Given the description of an element on the screen output the (x, y) to click on. 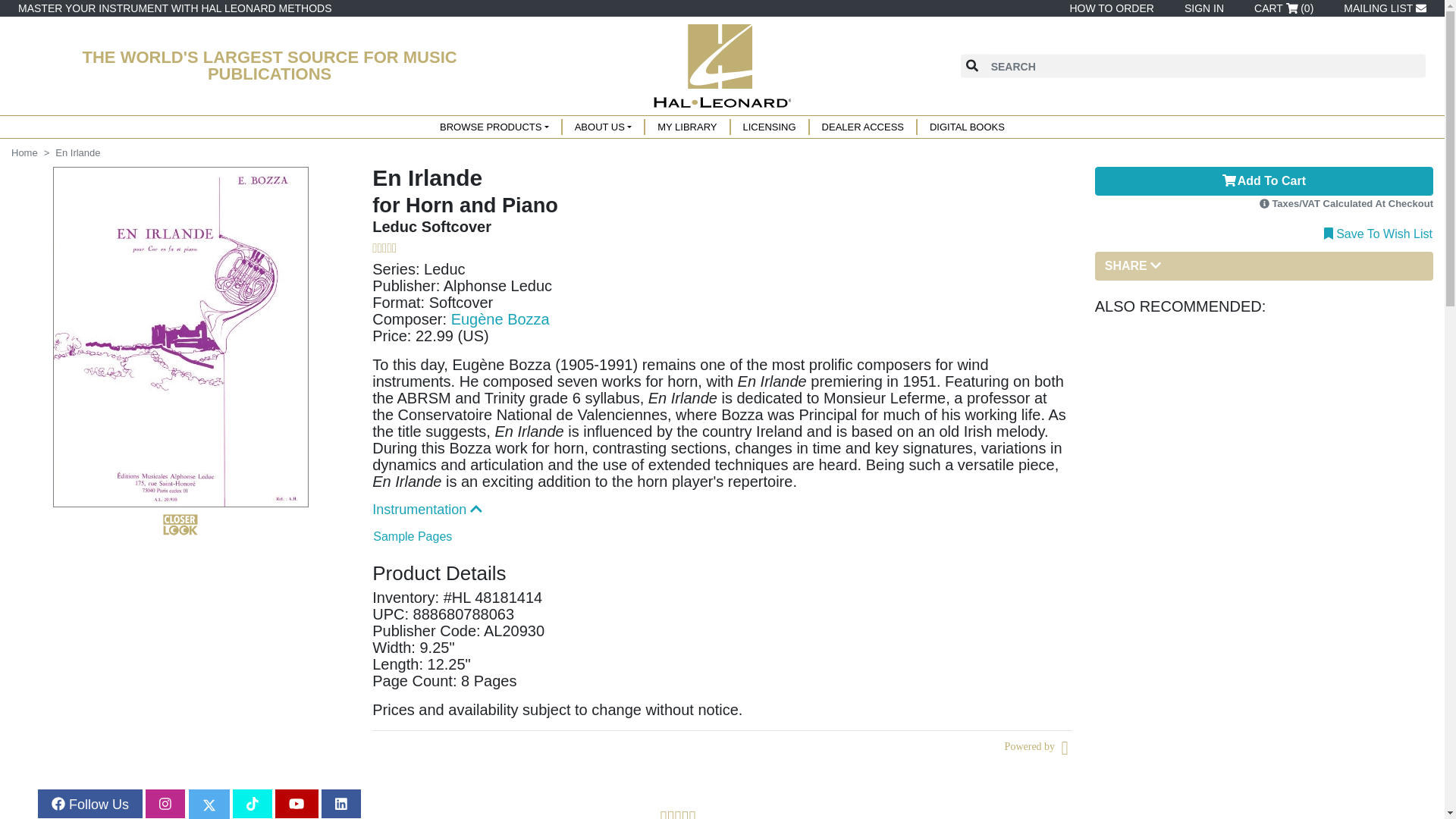
Add to Cart (1263, 181)
Closer Look (180, 524)
MAILING LIST (1382, 8)
MASTER YOUR INSTRUMENT WITH HAL LEONARD METHODS (174, 8)
Add to Wish List (1377, 232)
HOW TO ORDER (1108, 8)
SIGN IN (1200, 8)
